Given the description of an element on the screen output the (x, y) to click on. 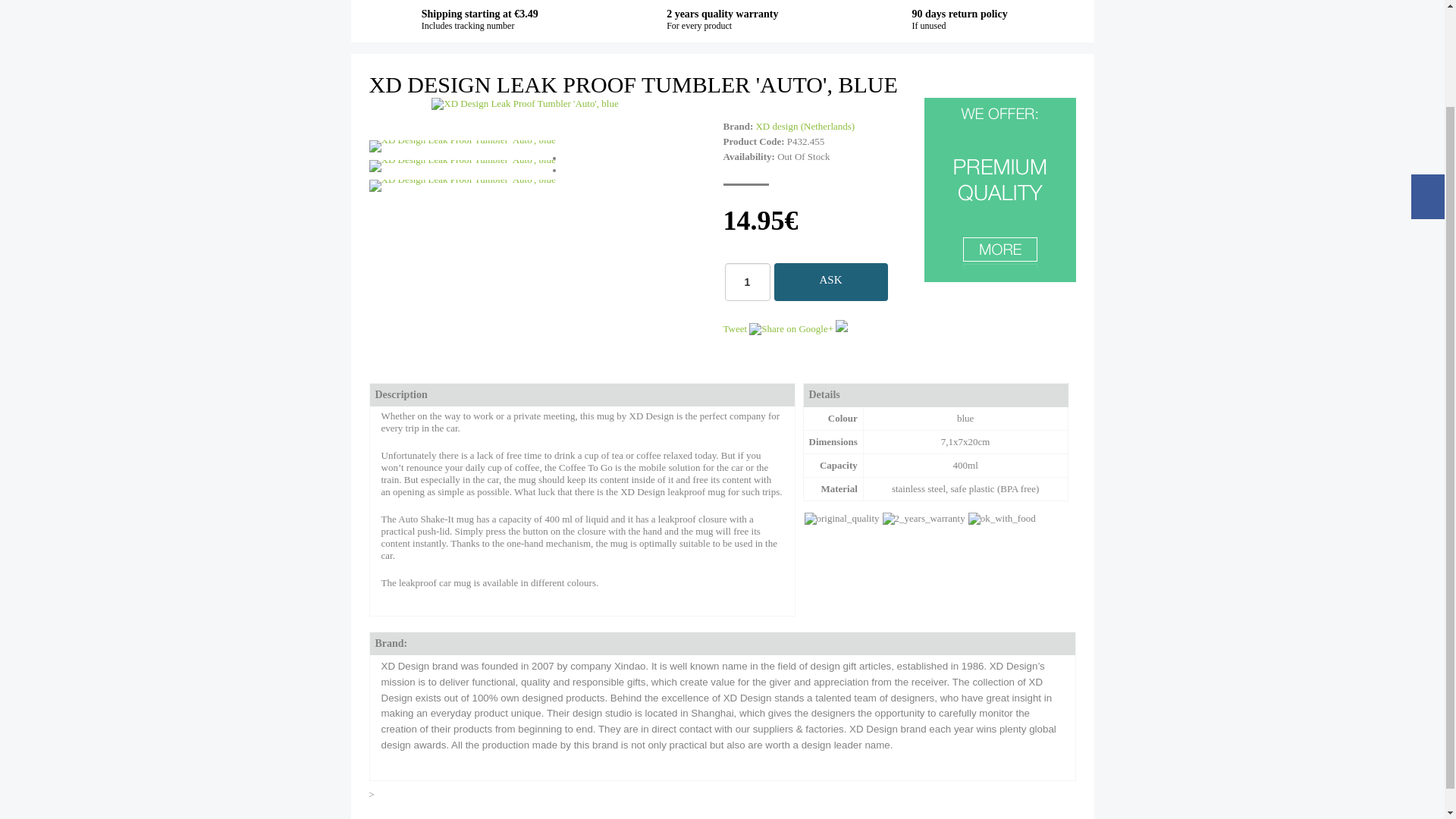
XD Design Leak Proof Tumbler 'Auto', blue (523, 103)
XD Design Leak Proof Tumbler 'Auto', blue (461, 146)
XD Design Leak Proof Tumbler 'Auto', blue (461, 185)
XD Design Leak Proof Tumbler 'Auto', blue (461, 165)
XD Design Leak Proof Tumbler 'Auto', blue (523, 102)
1 (747, 281)
